Given the description of an element on the screen output the (x, y) to click on. 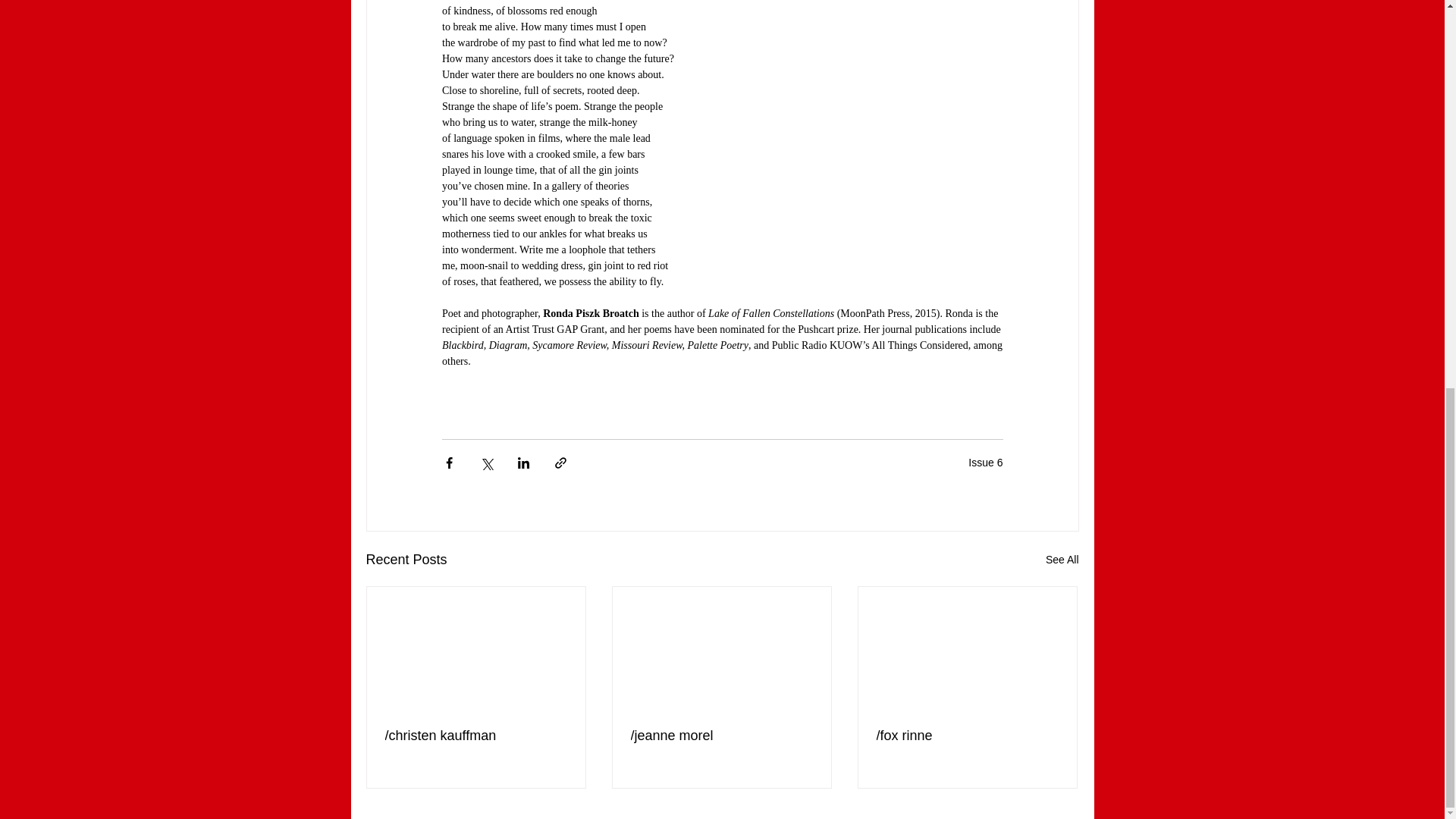
Issue 6 (985, 461)
See All (1061, 559)
